Given the description of an element on the screen output the (x, y) to click on. 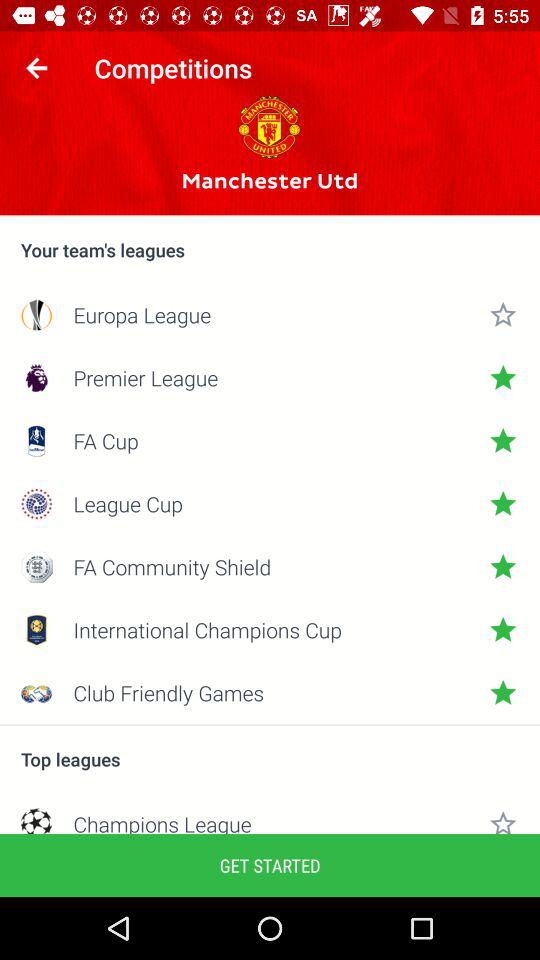
open the icon above the premier league icon (269, 314)
